Given the description of an element on the screen output the (x, y) to click on. 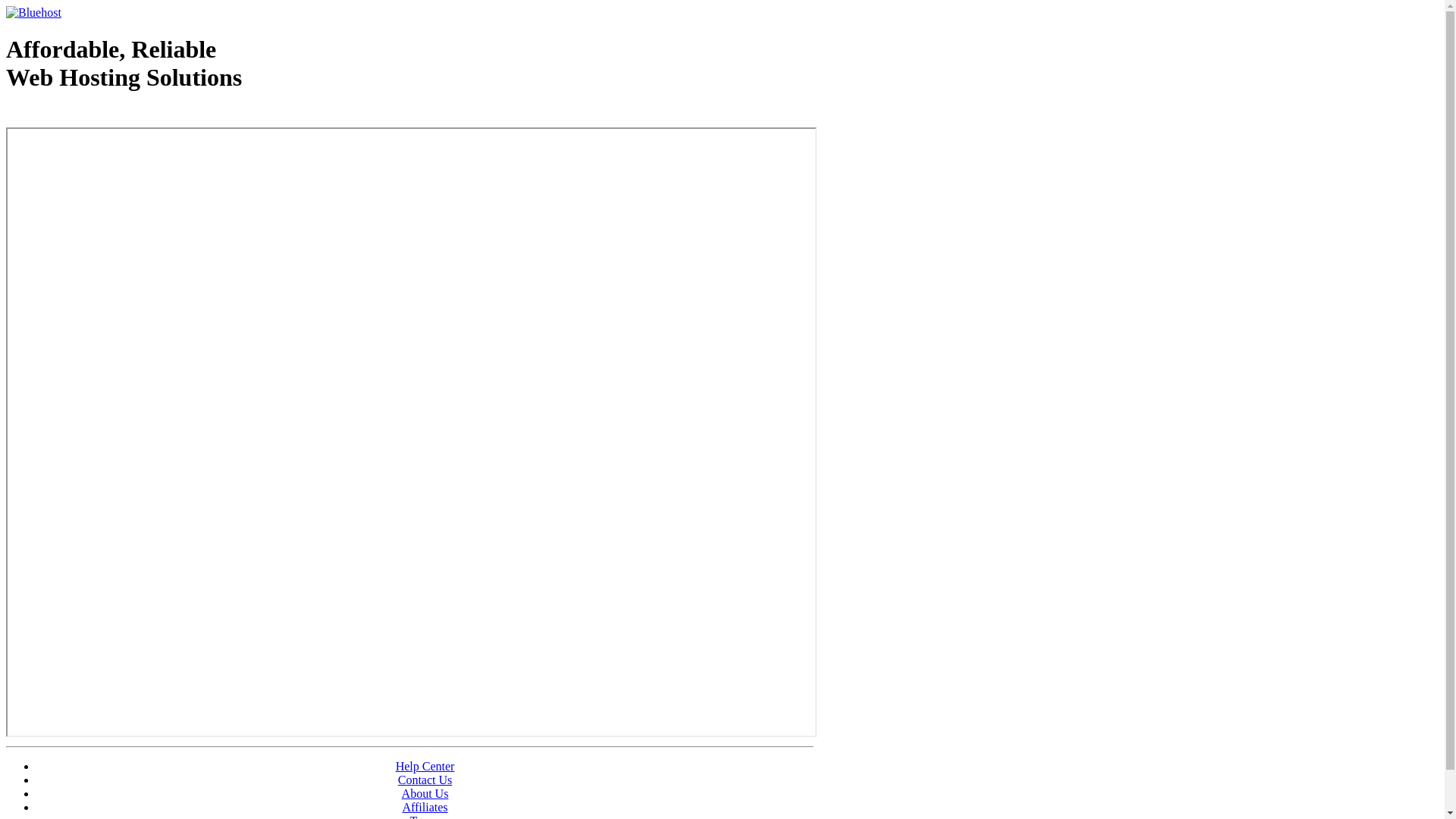
Web Hosting - courtesy of www.bluehost.com Element type: text (94, 115)
About Us Element type: text (424, 793)
Contact Us Element type: text (425, 779)
Affiliates Element type: text (424, 806)
Help Center Element type: text (425, 765)
